Given the description of an element on the screen output the (x, y) to click on. 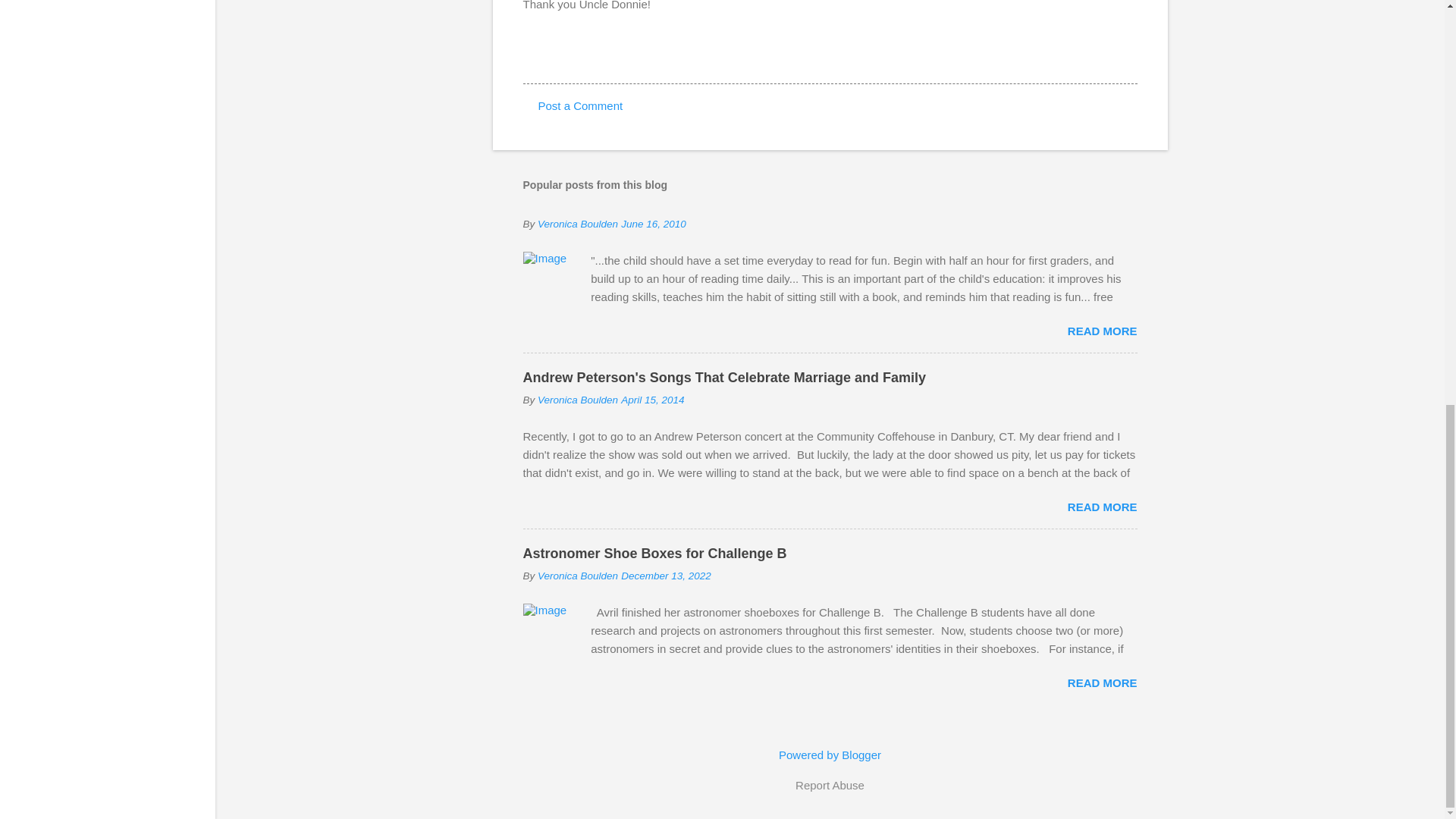
Email Post (531, 55)
Andrew Peterson's Songs That Celebrate Marriage and Family (724, 377)
Veronica Boulden (577, 399)
Astronomer Shoe Boxes for Challenge B (654, 553)
READ MORE (1102, 330)
Powered by Blogger (829, 754)
Report Abuse (829, 785)
December 13, 2022 (666, 575)
Veronica Boulden (577, 575)
April 15, 2014 (652, 399)
